Given the description of an element on the screen output the (x, y) to click on. 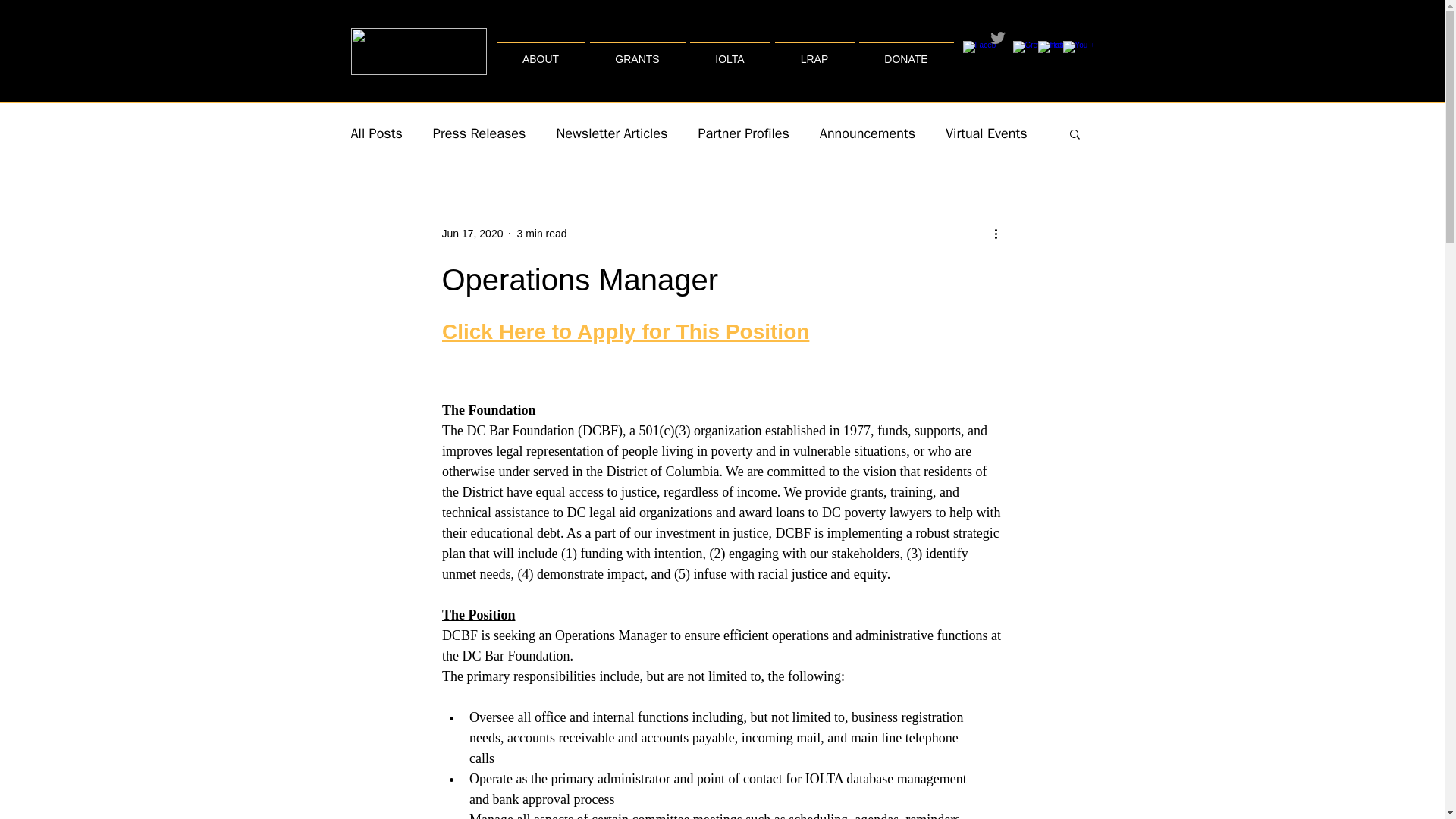
Newsletter Articles (611, 133)
IOLTA (729, 52)
Partner Profiles (743, 133)
Virtual Events (985, 133)
ABOUT (541, 52)
All Posts (375, 133)
GRANTS (636, 52)
Announcements (867, 133)
Jun 17, 2020 (471, 233)
Click Here to Apply for This Position (624, 331)
3 min read (541, 233)
logo.png (418, 51)
Press Releases (478, 133)
LRAP (813, 52)
DONATE (906, 52)
